Given the description of an element on the screen output the (x, y) to click on. 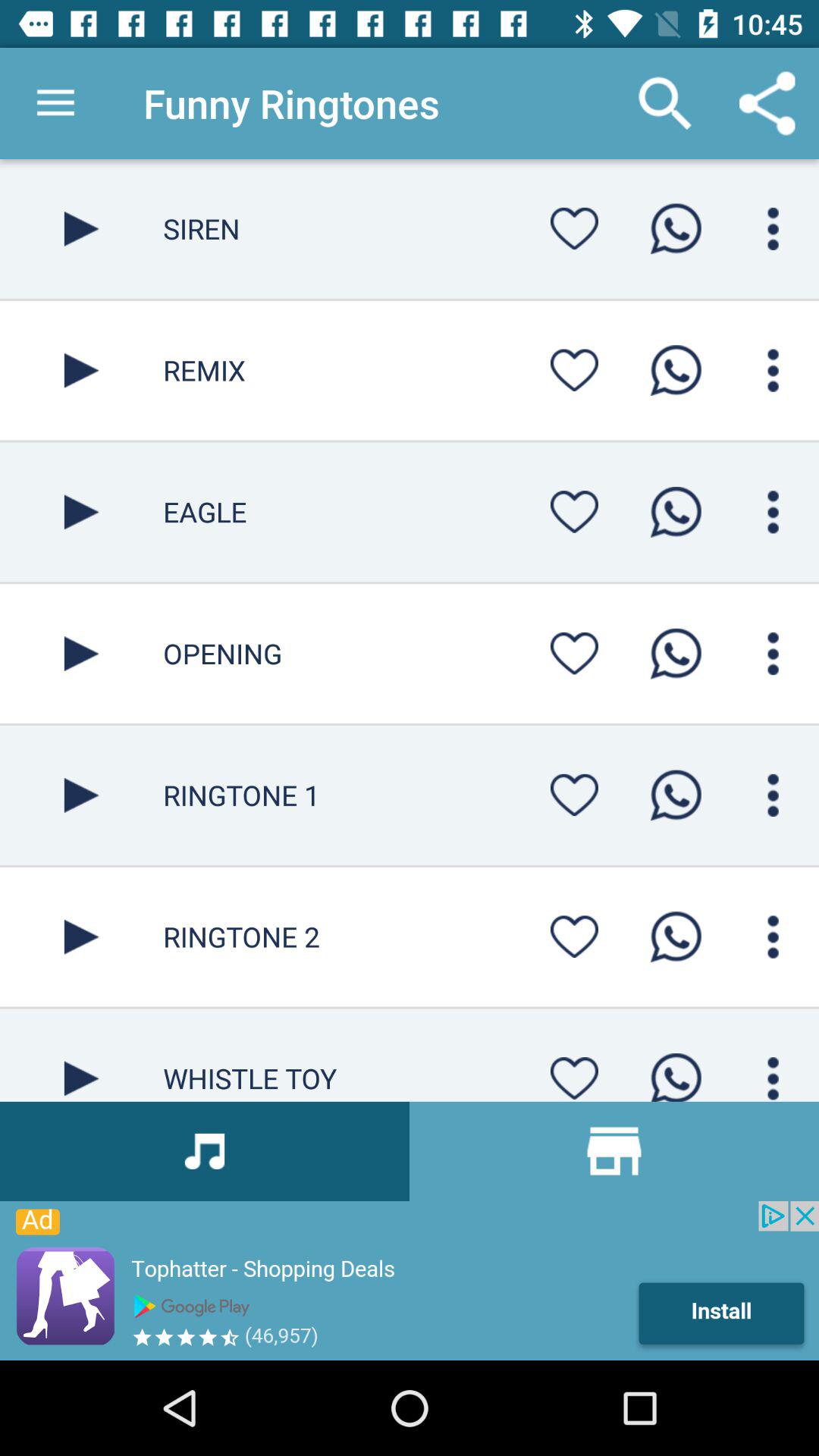
like button (574, 936)
